Given the description of an element on the screen output the (x, y) to click on. 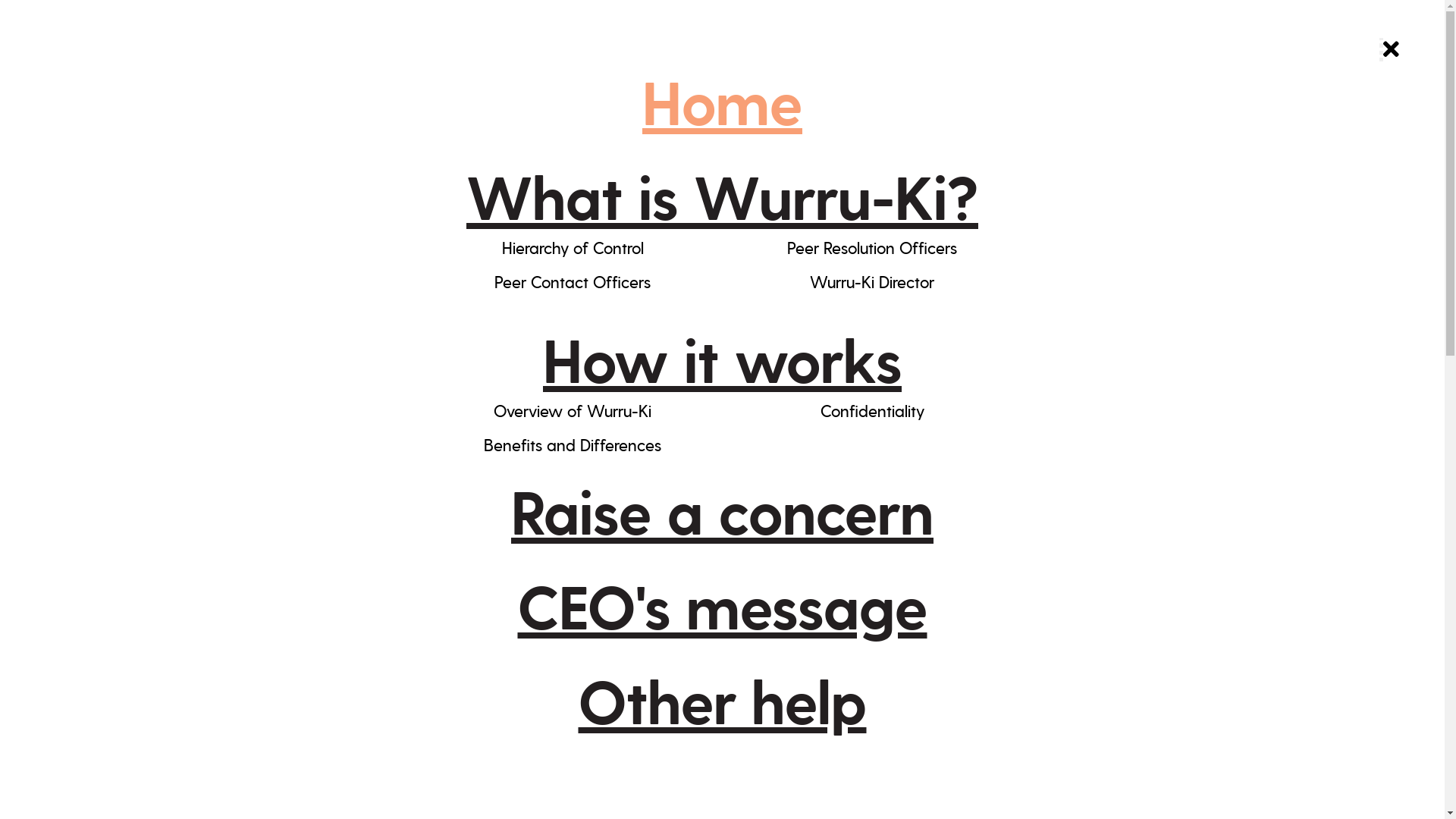
CEO's message Element type: text (721, 603)
Peer Resolution Officers Element type: text (872, 247)
What is Wurru-Ki? Element type: text (722, 193)
Other help Element type: text (721, 698)
Confidentiality Element type: text (872, 409)
Wurru-Ki Director Element type: text (871, 280)
Benefits and Differences Element type: text (572, 444)
How it works Element type: text (721, 357)
Home Element type: text (722, 99)
Peer Contact Officers Element type: text (572, 280)
Overview of Wurru-Ki Element type: text (572, 409)
Raise a concern Element type: text (722, 509)
Hierarchy of Control Element type: text (572, 247)
